Given the description of an element on the screen output the (x, y) to click on. 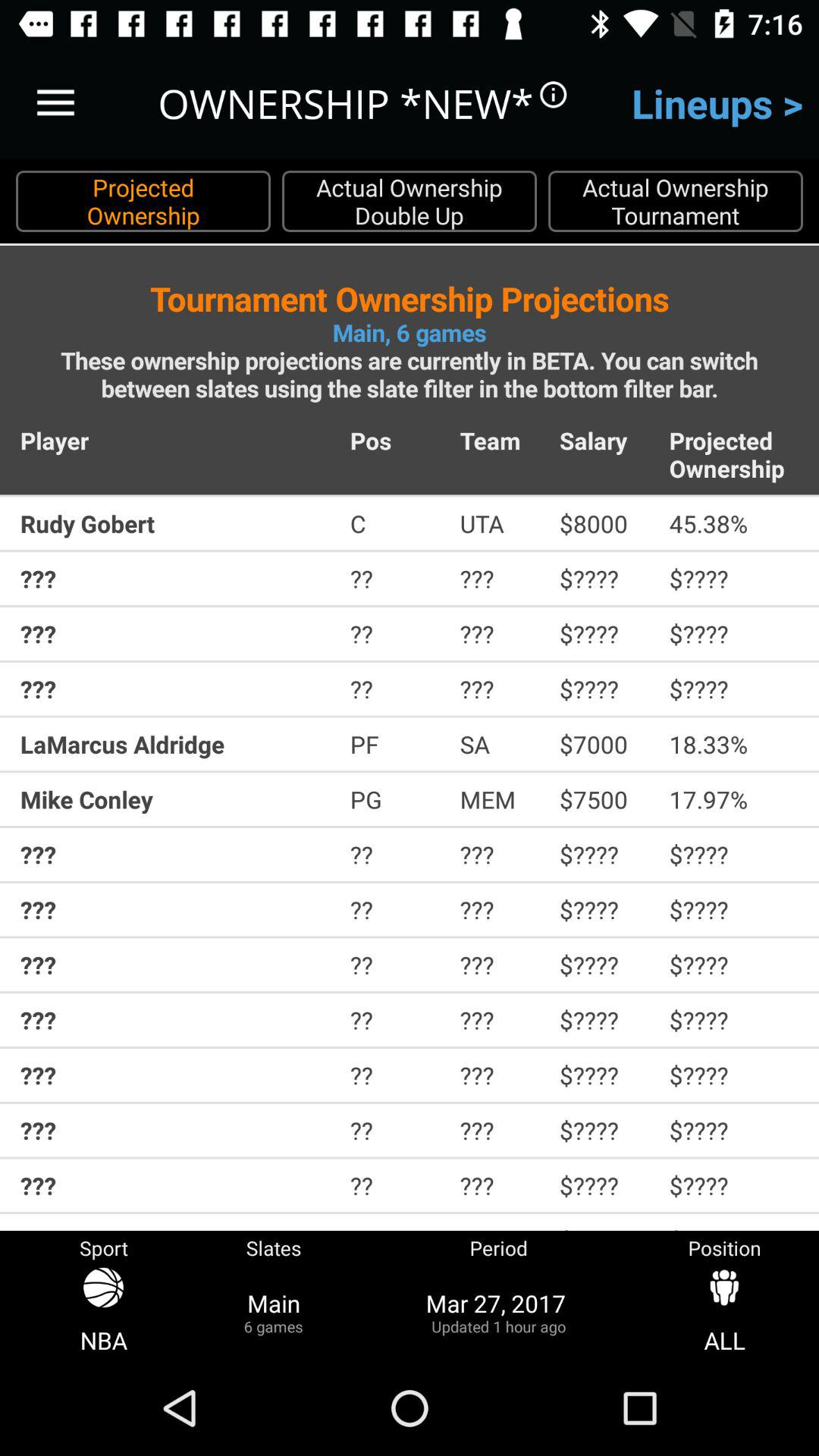
swipe until salary icon (604, 440)
